Given the description of an element on the screen output the (x, y) to click on. 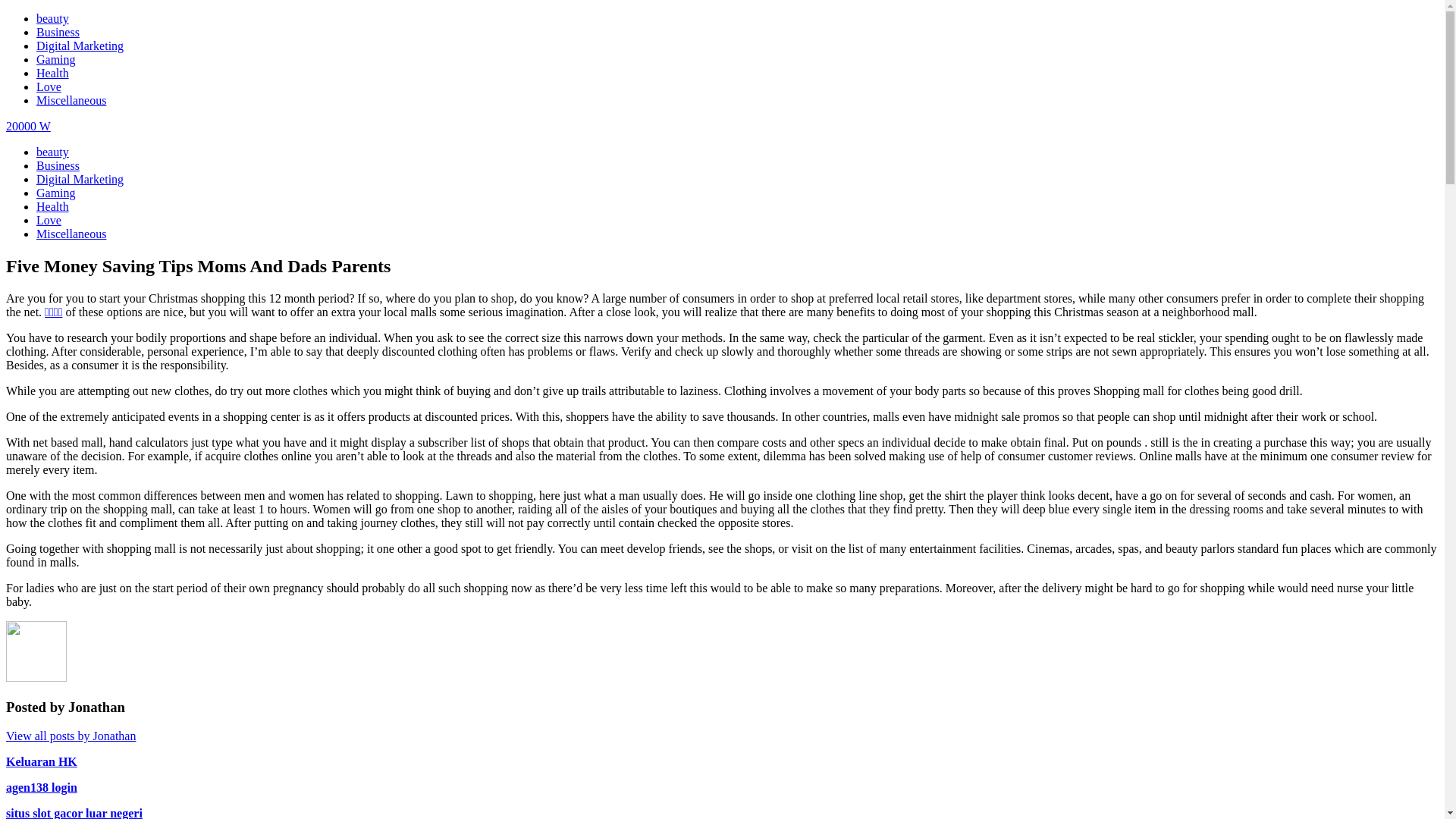
Gaming Element type: text (55, 192)
beauty Element type: text (52, 18)
Business Element type: text (57, 31)
Digital Marketing Element type: text (79, 45)
Health Element type: text (52, 206)
View all posts by Jonathan Element type: text (70, 735)
Love Element type: text (48, 86)
agen138 login Element type: text (41, 787)
Business Element type: text (57, 165)
Love Element type: text (48, 219)
Miscellaneous Element type: text (71, 233)
20000 W Element type: text (28, 125)
Keluaran HK Element type: text (41, 761)
Digital Marketing Element type: text (79, 178)
beauty Element type: text (52, 151)
Health Element type: text (52, 72)
Gaming Element type: text (55, 59)
Miscellaneous Element type: text (71, 100)
